Given the description of an element on the screen output the (x, y) to click on. 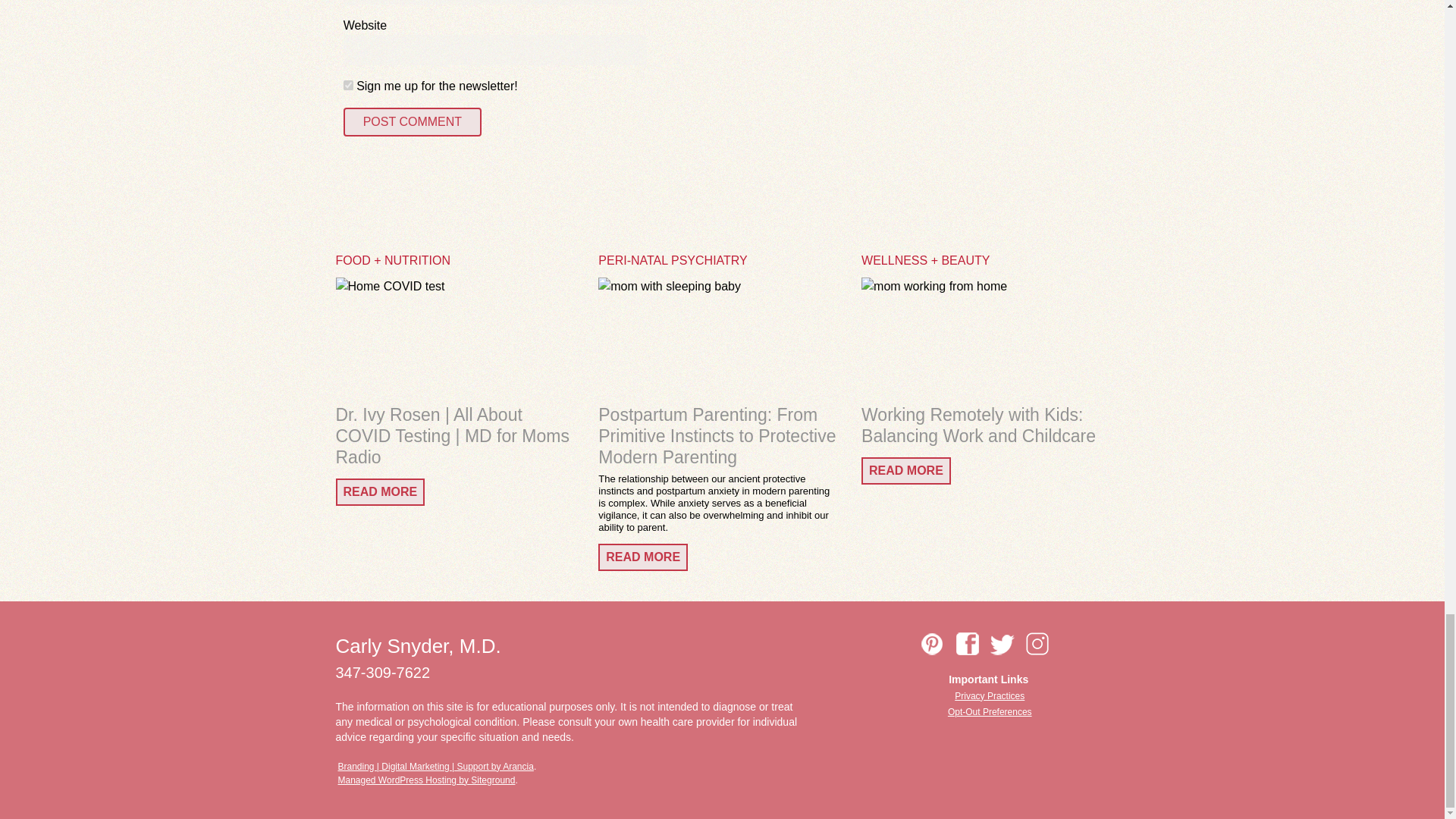
Post Comment (412, 121)
1 (348, 85)
Post Comment (412, 121)
